Given the description of an element on the screen output the (x, y) to click on. 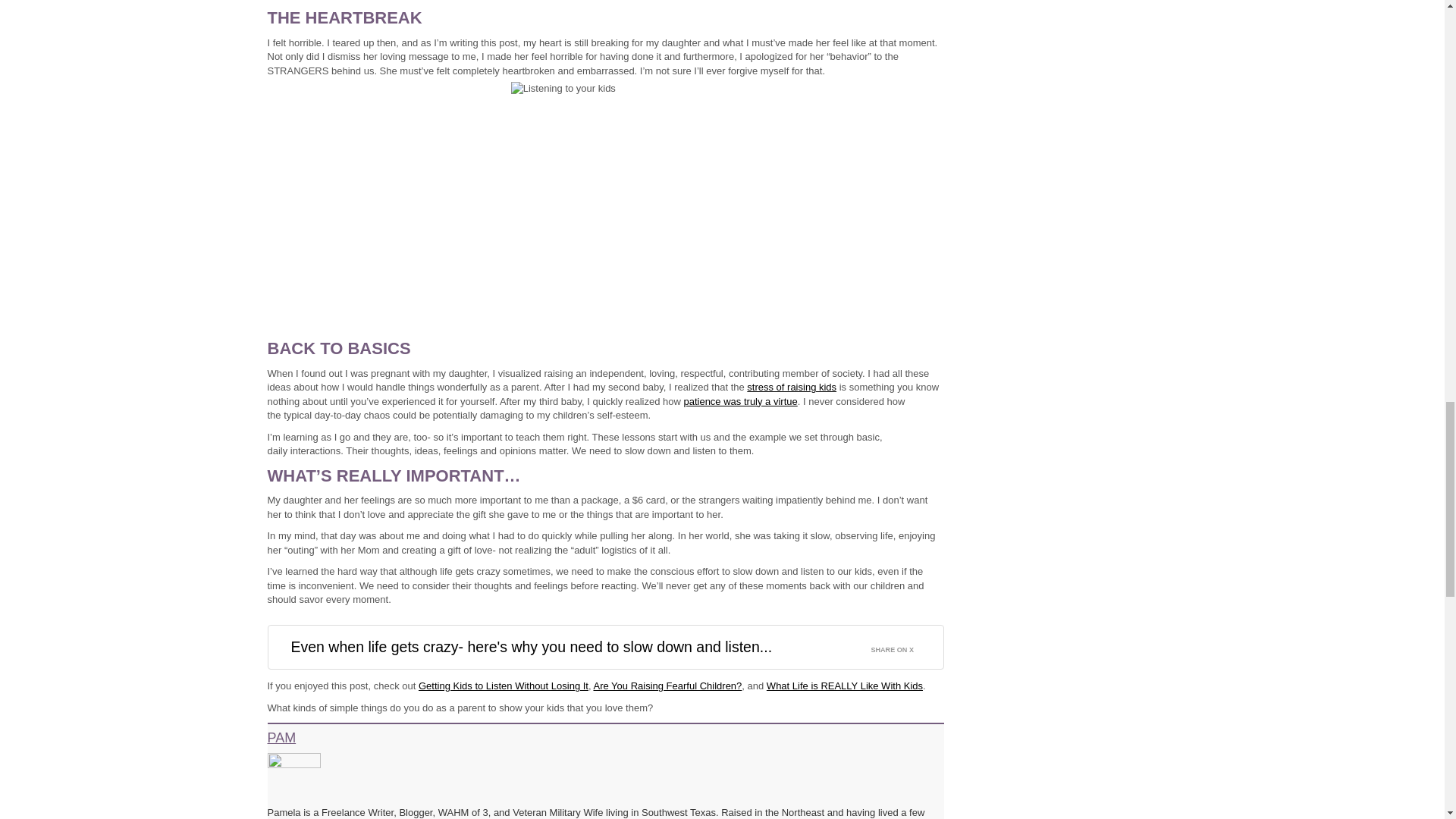
CoSchedule: The Editorial Calendar For WordPress (1071, 182)
PAM (288, 738)
Are You Raising Fearful Children? (666, 685)
What Life is REALLY Like With Kids (845, 685)
patience was truly a virtue (739, 401)
SHARE ON X (900, 646)
stress of raising kids (790, 387)
All posts by Pam (288, 738)
Getting Kids to Listen Without Losing It (503, 685)
